Given the description of an element on the screen output the (x, y) to click on. 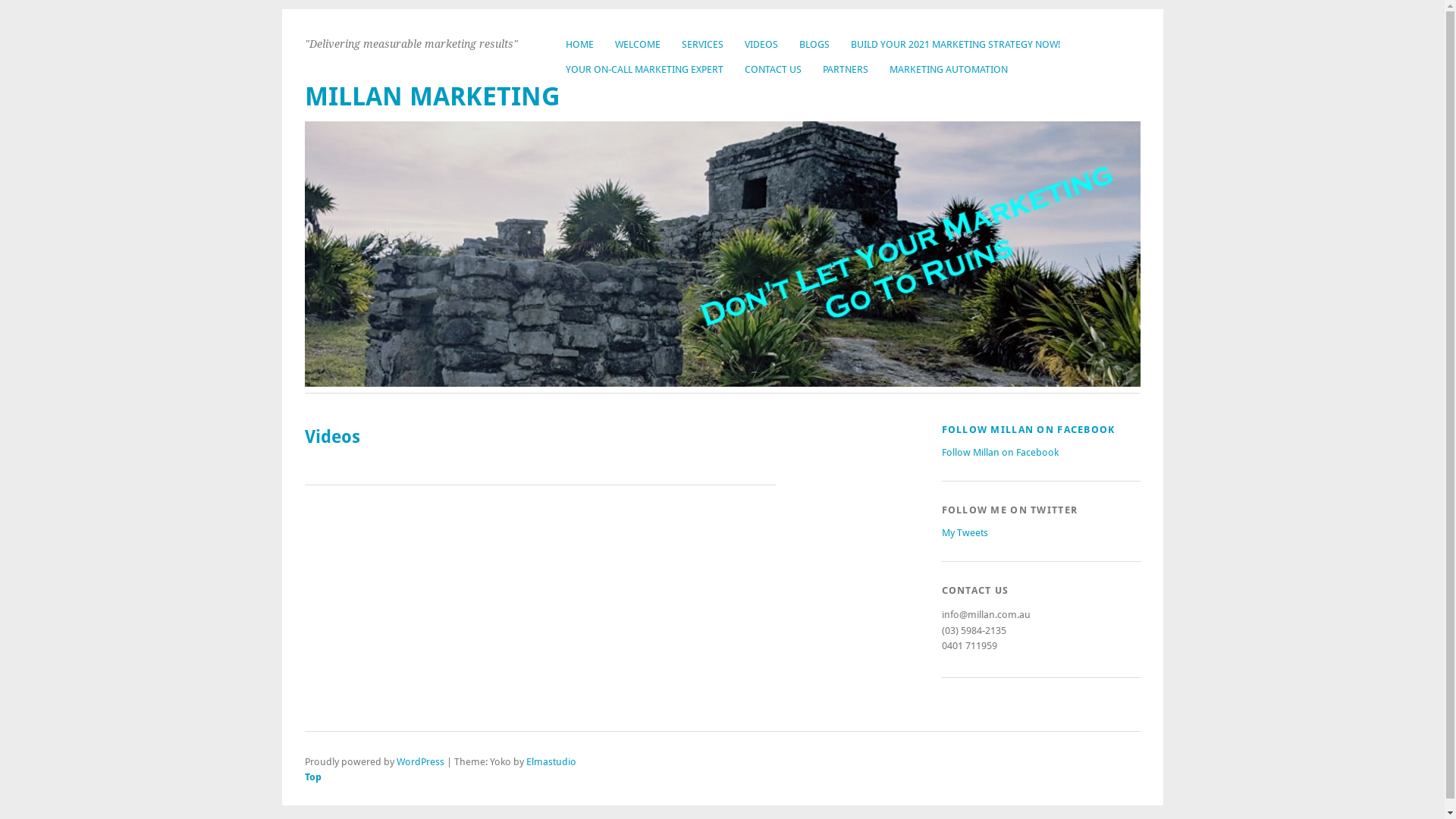
Follow Millan on Facebook Element type: text (999, 452)
Elmastudio Element type: text (551, 761)
WordPress Element type: text (419, 761)
PARTNERS Element type: text (845, 68)
BLOGS Element type: text (814, 43)
MILLAN MARKETING Element type: text (432, 96)
BUILD YOUR 2021 MARKETING STRATEGY NOW! Element type: text (955, 43)
CONTACT US Element type: text (773, 68)
Top Element type: text (596, 776)
VIDEOS Element type: text (761, 43)
My Tweets Element type: text (964, 532)
SERVICES Element type: text (702, 43)
YOUR ON-CALL MARKETING EXPERT Element type: text (644, 68)
FOLLOW MILLAN ON FACEBOOK Element type: text (1028, 429)
MARKETING AUTOMATION Element type: text (948, 68)
HOME Element type: text (579, 43)
WELCOME Element type: text (637, 43)
